Given the description of an element on the screen output the (x, y) to click on. 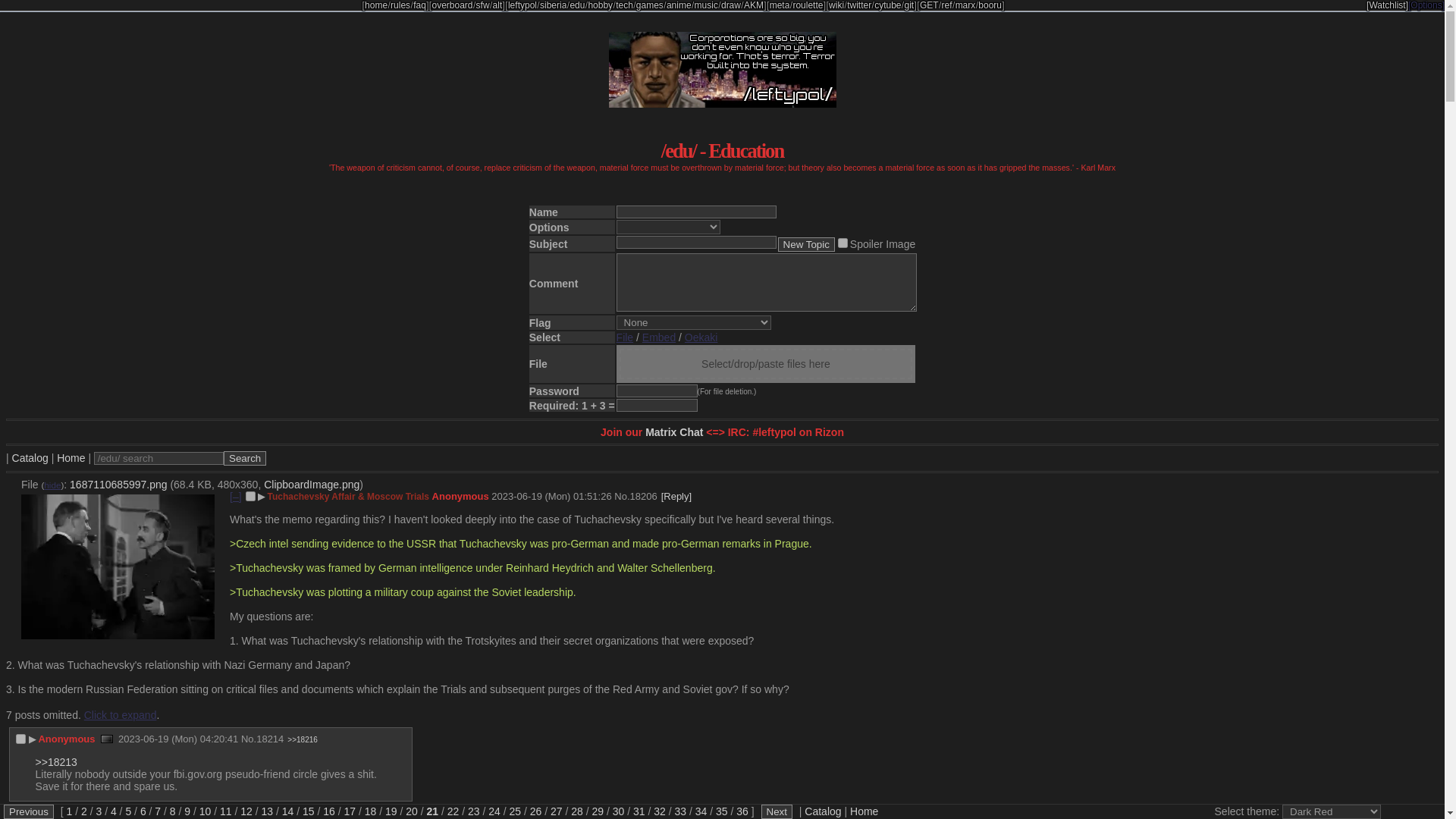
Board of the Month (807, 5)
1 year ago (551, 496)
Leftist Politically Incorrect (522, 5)
Guns, weapons and the art of war. (753, 5)
1 year ago (177, 738)
AKM (753, 5)
games (649, 5)
home (376, 5)
draw (730, 5)
Embed (658, 337)
